Given the description of an element on the screen output the (x, y) to click on. 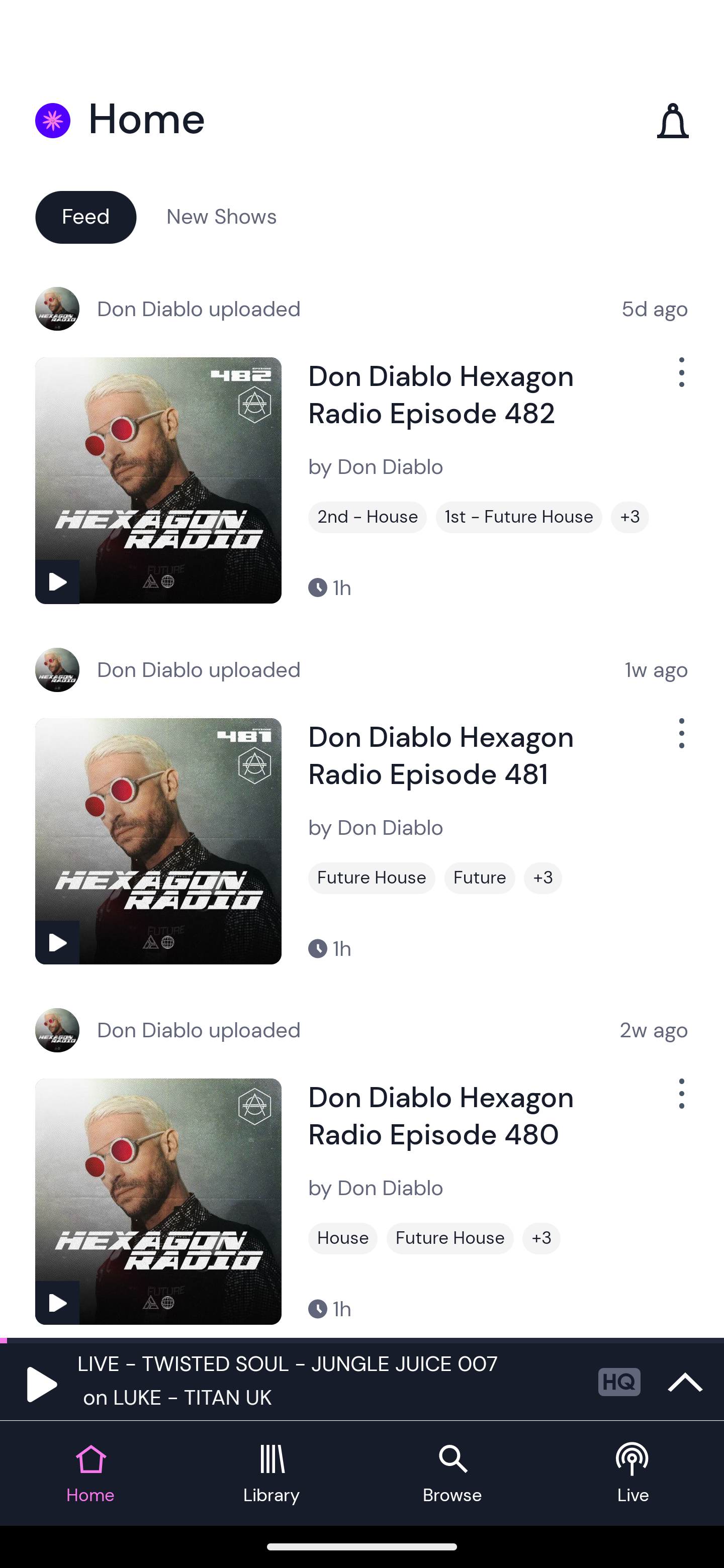
Feed (85, 216)
New Shows (221, 216)
Show Options Menu Button (679, 379)
2nd - House (367, 517)
1st - Future House (518, 517)
Show Options Menu Button (679, 740)
Future House (371, 877)
Future (479, 877)
Show Options Menu Button (679, 1101)
House (342, 1238)
Future House (450, 1238)
Home tab Home (90, 1473)
Library tab Library (271, 1473)
Browse tab Browse (452, 1473)
Live tab Live (633, 1473)
